Given the description of an element on the screen output the (x, y) to click on. 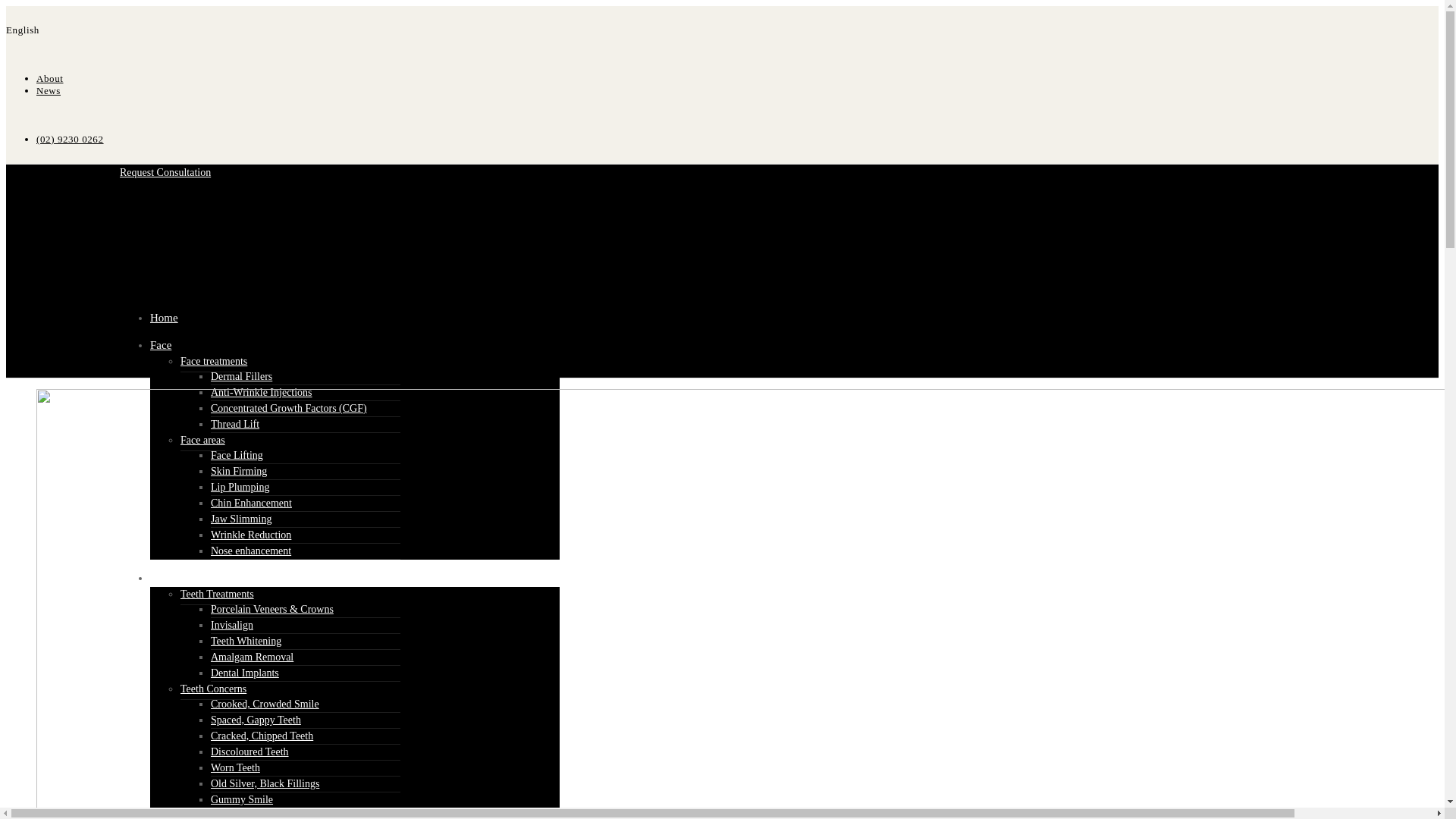
Nose enhancement Element type: text (250, 550)
Discoloured Teeth Element type: text (249, 751)
Anti-Wrinkle Injections Element type: text (261, 392)
Teeth Concerns Element type: text (213, 688)
Porcelain Veneers & Crowns Element type: text (271, 609)
Face treatments Element type: text (213, 361)
Lip Plumping Element type: text (239, 486)
Request Consultation Element type: text (164, 172)
Invisalign Element type: text (231, 625)
Dental Implants Element type: text (244, 672)
Cracked, Chipped Teeth Element type: text (261, 735)
Wrinkle Reduction Element type: text (250, 534)
Face Element type: text (160, 344)
Teeth Whitening Element type: text (245, 640)
Face Lifting Element type: text (236, 455)
Teeth Element type: text (162, 577)
Face areas Element type: text (202, 440)
About Element type: text (49, 78)
Gummy Smile Element type: text (241, 799)
Chin Enhancement Element type: text (250, 502)
Old Silver, Black Fillings Element type: text (264, 783)
Concentrated Growth Factors (CGF) Element type: text (288, 408)
Worn Teeth Element type: text (235, 767)
Amalgam Removal Element type: text (251, 656)
(02) 9230 0262 Element type: text (722, 139)
News Element type: text (48, 90)
Thread Lift Element type: text (234, 424)
Jaw Slimming Element type: text (241, 518)
Dermal Fillers Element type: text (241, 376)
Skin Firming Element type: text (238, 471)
Crooked, Crowded Smile Element type: text (264, 703)
Home Element type: text (164, 317)
Spaced, Gappy Teeth Element type: text (255, 719)
Teeth Treatments Element type: text (217, 594)
